Given the description of an element on the screen output the (x, y) to click on. 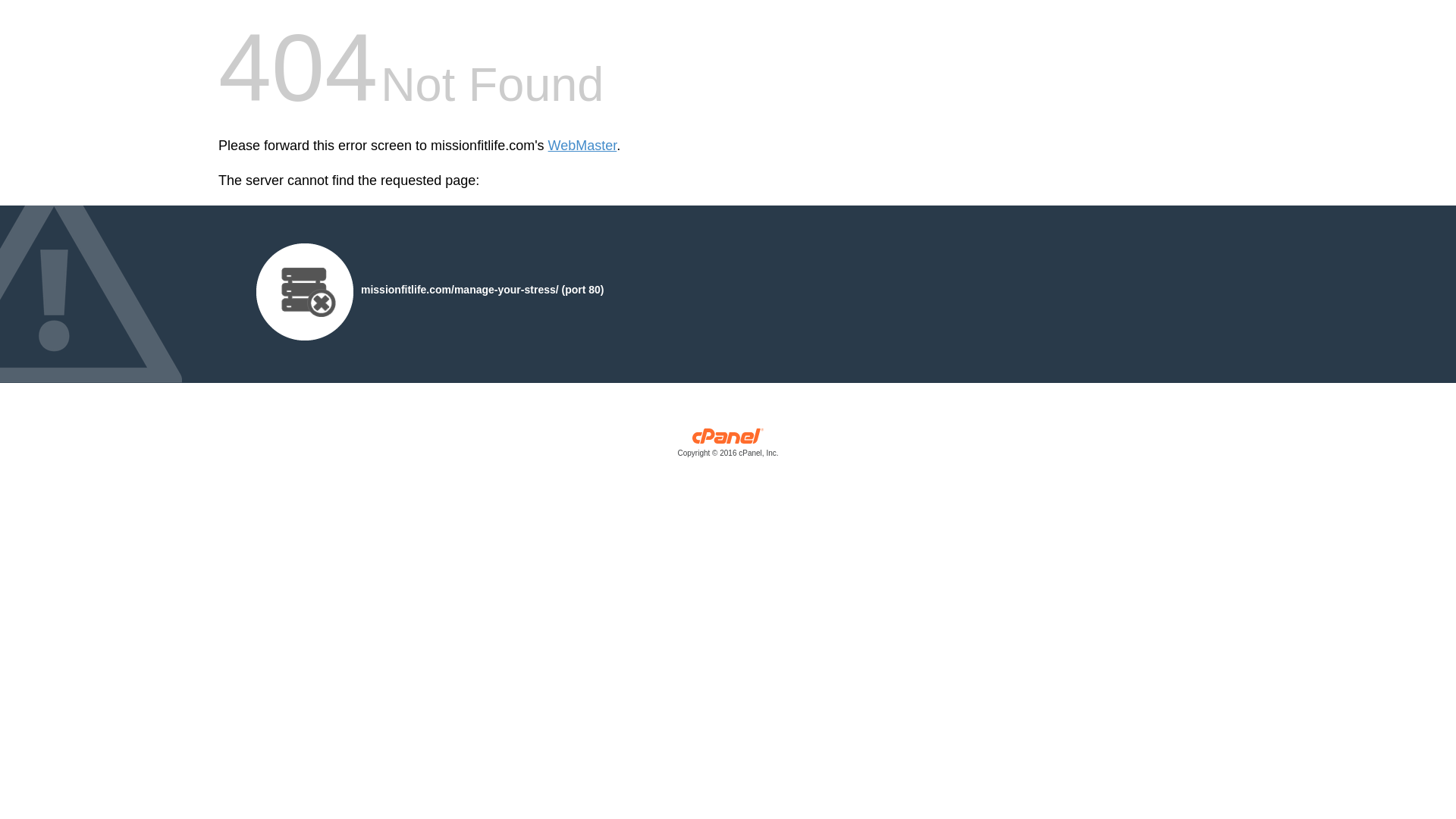
WebMaster (582, 145)
cPanel, Inc. (727, 446)
